Given the description of an element on the screen output the (x, y) to click on. 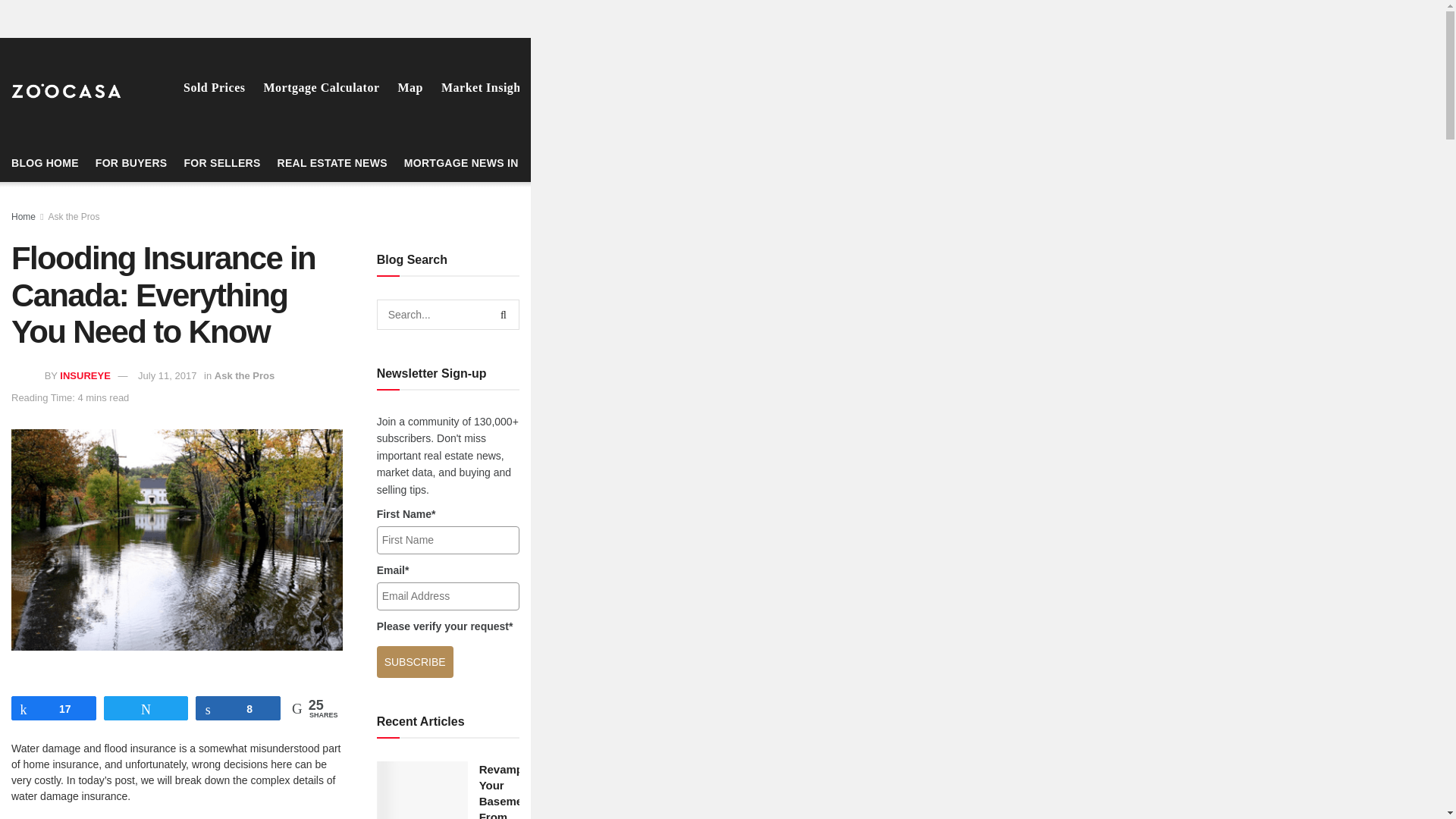
FOR SELLERS (221, 162)
Ask the Pros (73, 216)
Mortgage Calculator (321, 87)
8 (237, 707)
July 11, 2017 (167, 375)
REAL ESTATE NEWS (332, 162)
MORTGAGE NEWS IN CANADA (486, 162)
17 (53, 707)
Home (22, 216)
Ask the Pros (244, 375)
Market Insights (485, 87)
INSUREYE (84, 375)
Sold Prices (214, 87)
BLOG HOME (44, 162)
FOR BUYERS (131, 162)
